Given the description of an element on the screen output the (x, y) to click on. 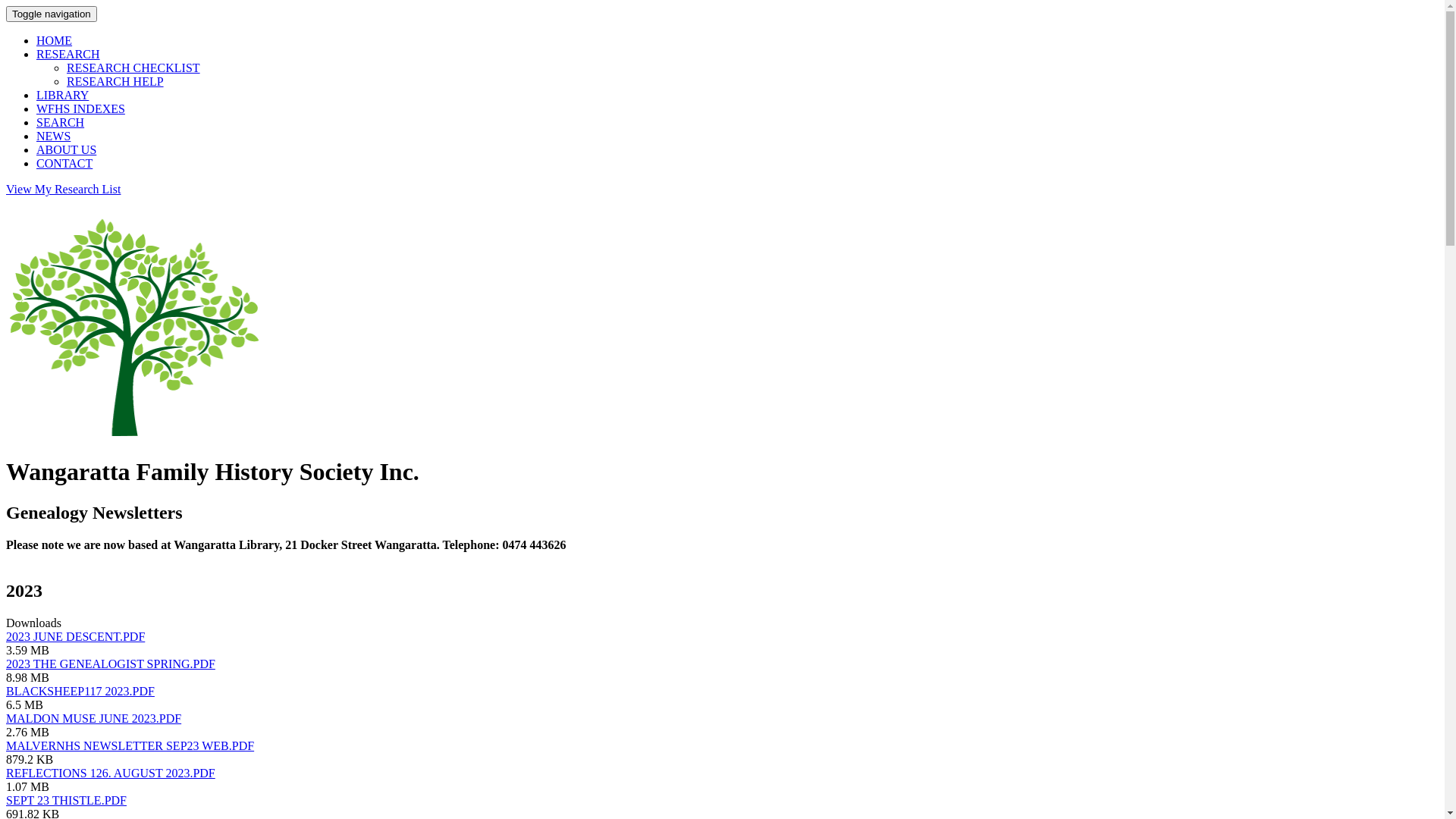
RESEARCH CHECKLIST Element type: text (133, 67)
SEARCH Element type: text (60, 122)
NEWS Element type: text (53, 135)
CONTACT Element type: text (64, 162)
BLACKSHEEP117 2023.PDF Element type: text (80, 690)
MALVERNHS NEWSLETTER SEP23 WEB.PDF Element type: text (130, 745)
WFHS INDEXES Element type: text (80, 108)
LIBRARY Element type: text (62, 94)
Toggle navigation Element type: text (51, 13)
RESEARCH HELP Element type: text (114, 81)
REFLECTIONS 126. AUGUST 2023.PDF Element type: text (110, 772)
SEPT 23 THISTLE.PDF Element type: text (66, 799)
ABOUT US Element type: text (66, 149)
HOME Element type: text (54, 40)
RESEARCH Element type: text (68, 53)
View My Research List Element type: text (63, 188)
2023 JUNE DESCENT.PDF Element type: text (75, 636)
MALDON MUSE JUNE 2023.PDF Element type: text (93, 718)
2023 THE GENEALOGIST SPRING.PDF Element type: text (110, 663)
